Given the description of an element on the screen output the (x, y) to click on. 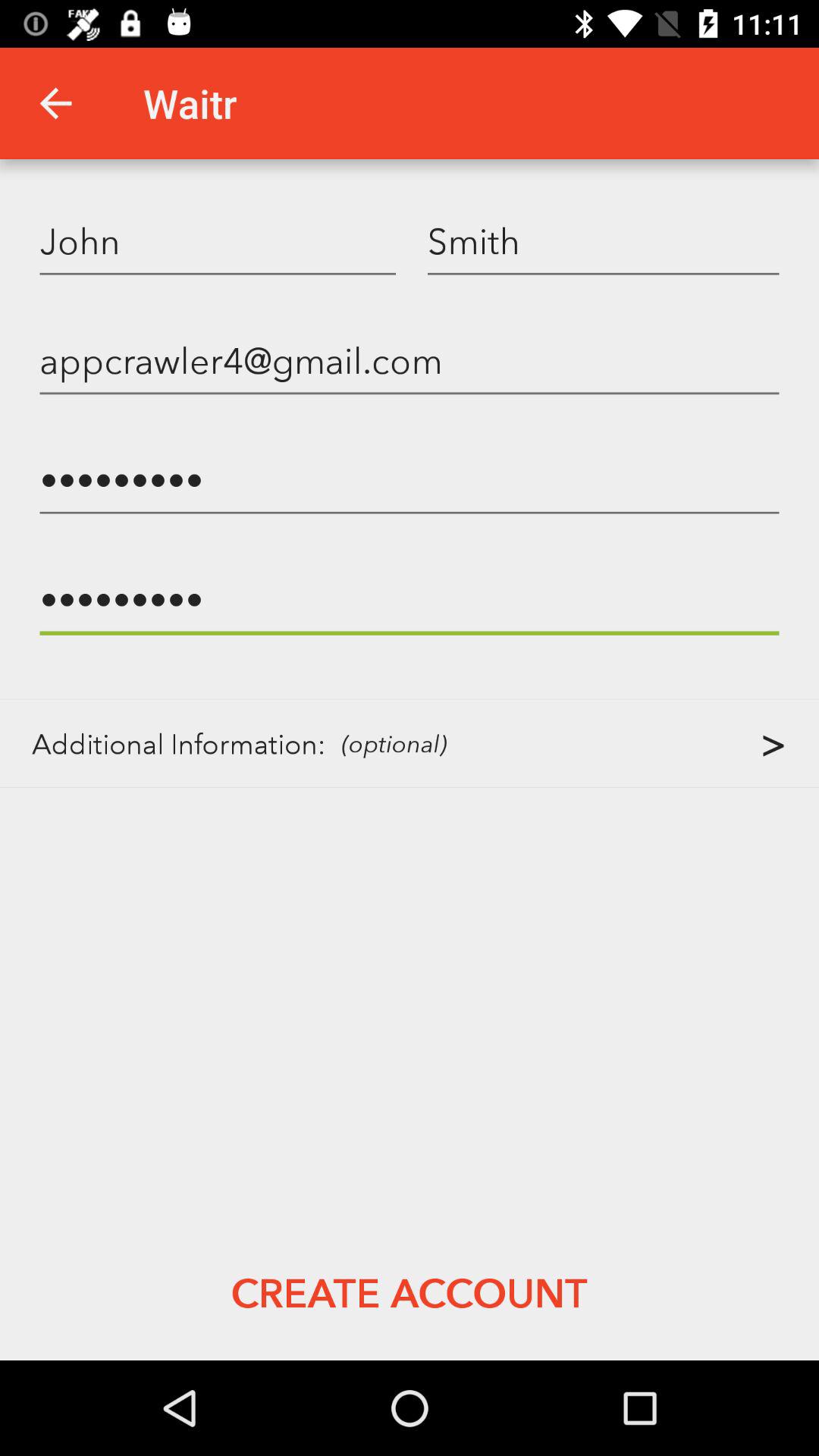
open the icon to the left of the waitr app (55, 103)
